Given the description of an element on the screen output the (x, y) to click on. 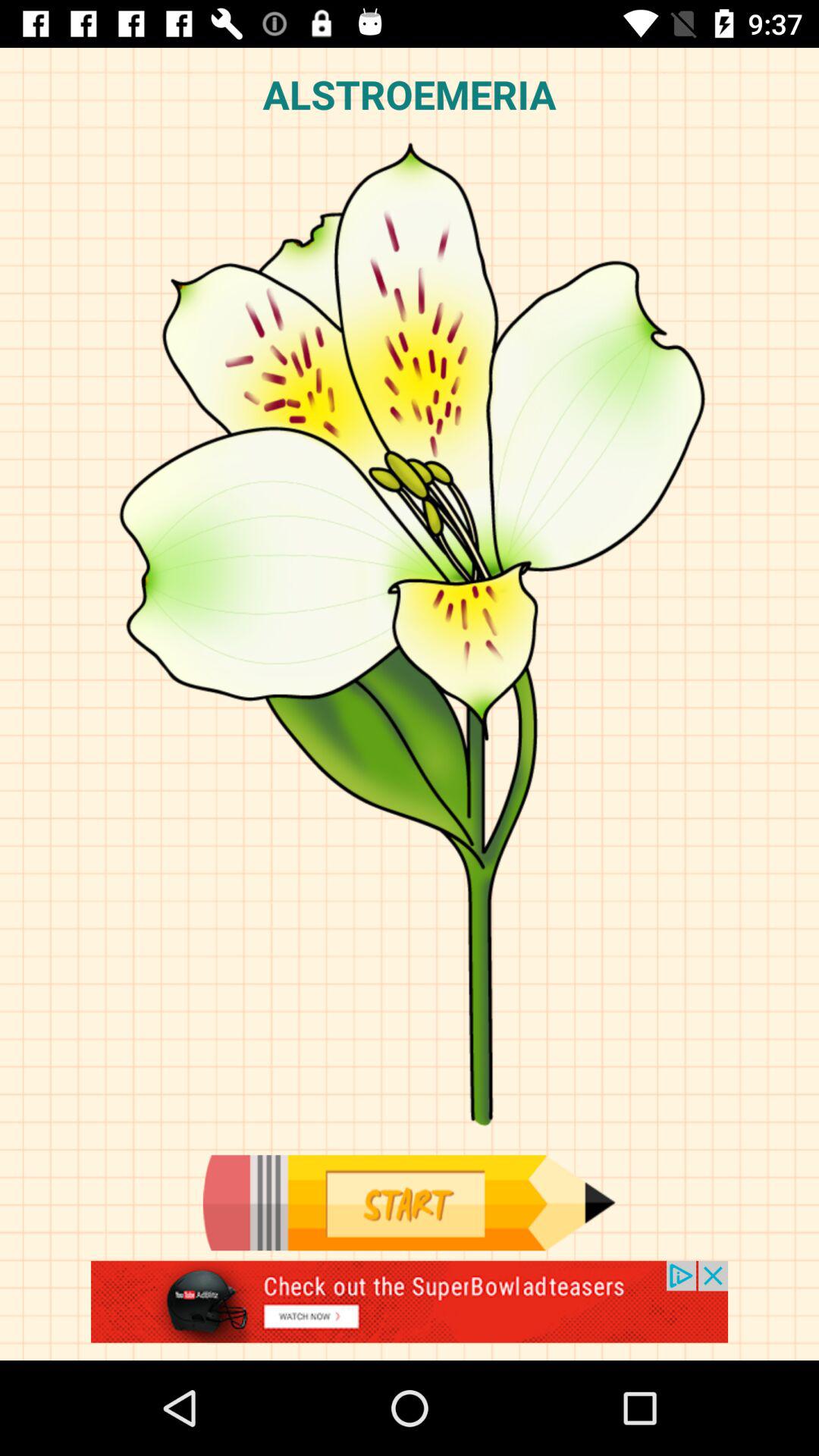
start to draw (409, 1202)
